Given the description of an element on the screen output the (x, y) to click on. 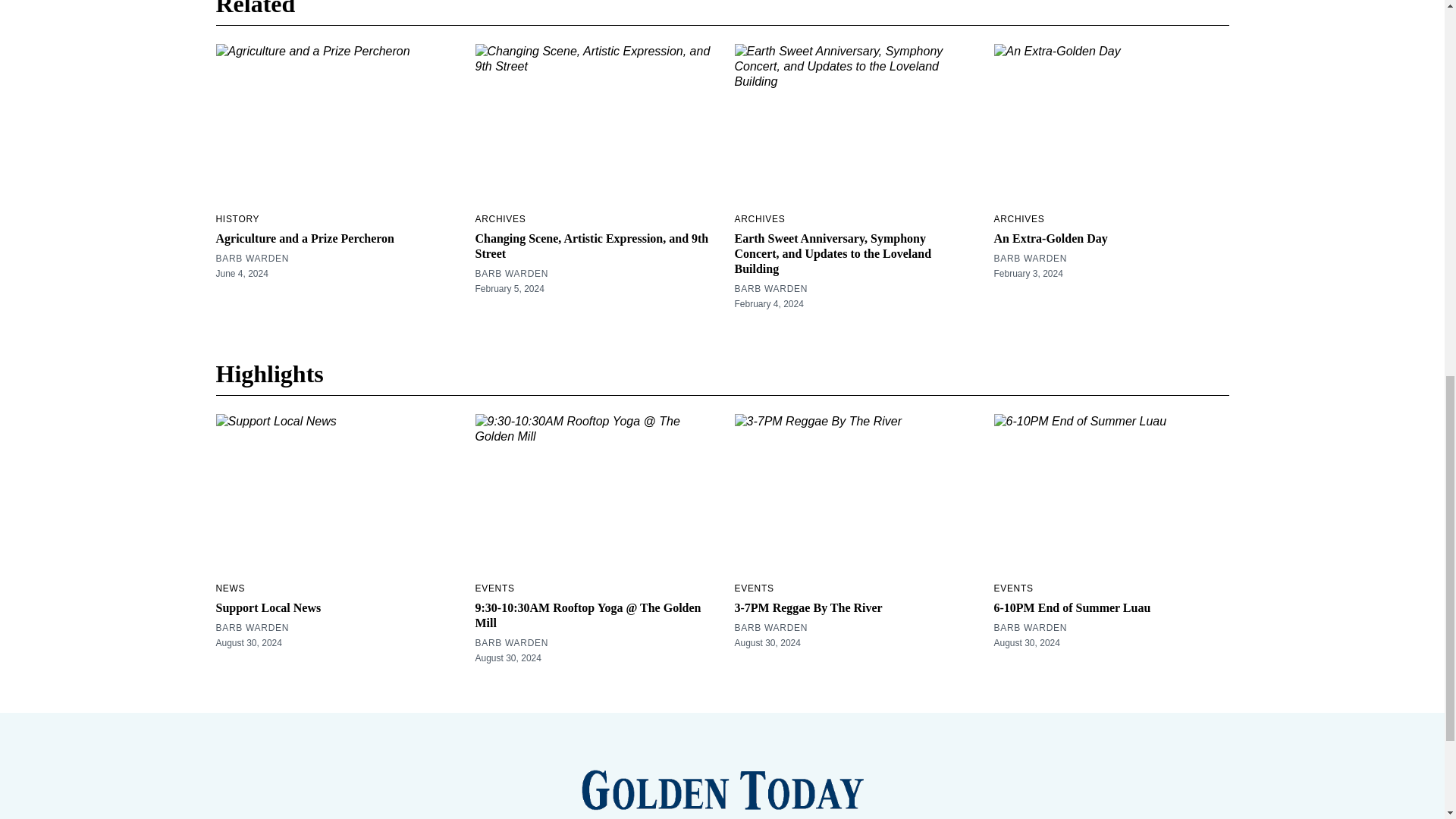
Changing Scene, Artistic Expression, and 9th Street (590, 245)
BARB WARDEN (251, 258)
HISTORY (237, 218)
BARB WARDEN (770, 288)
BARB WARDEN (511, 273)
ARCHIVES (758, 218)
Agriculture and a Prize Percheron (304, 237)
ARCHIVES (499, 218)
